Given the description of an element on the screen output the (x, y) to click on. 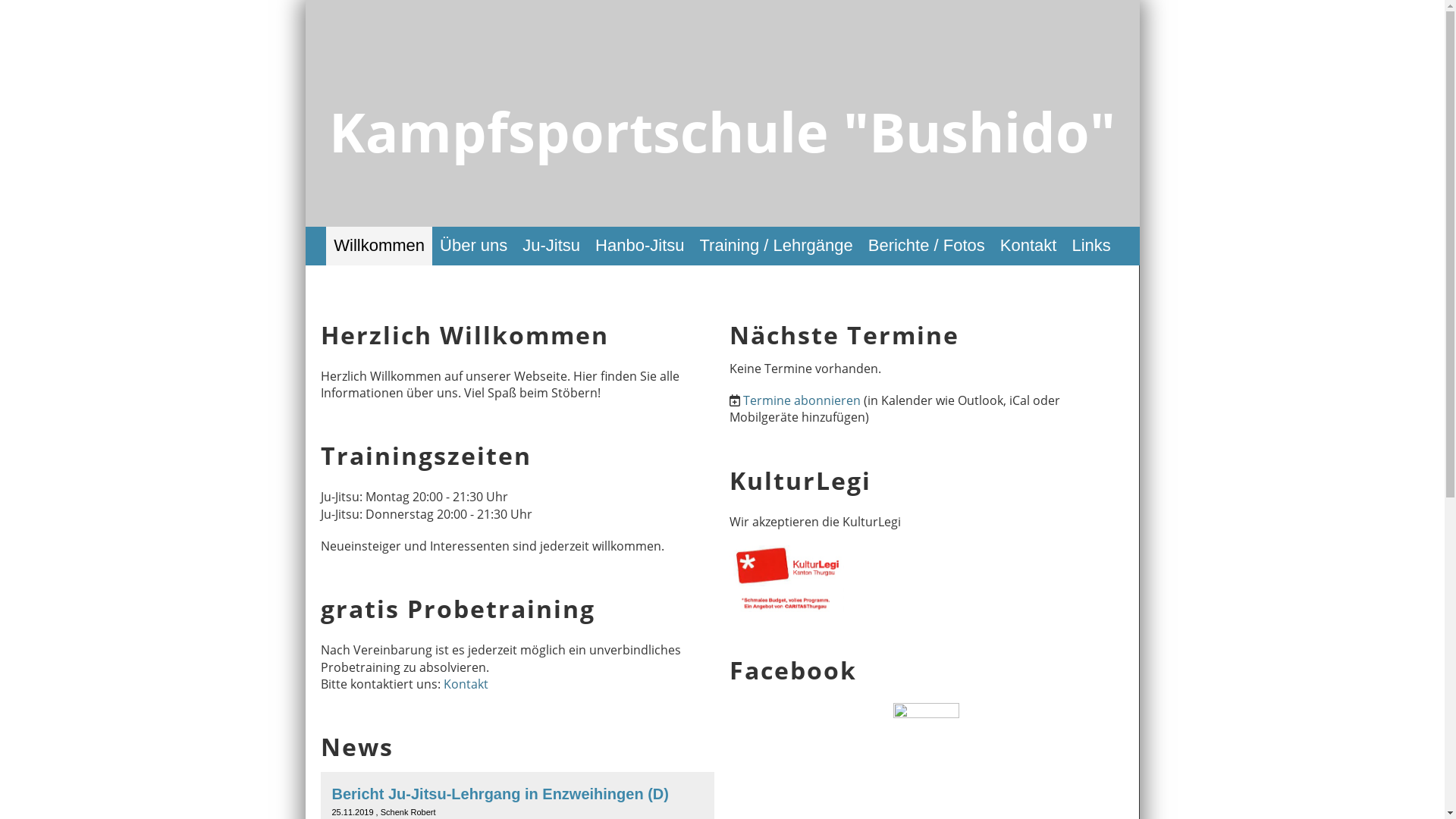
Ju-Jitsu Element type: text (550, 245)
Kontakt Element type: text (1028, 245)
Termine abonnieren Element type: text (801, 400)
Links Element type: text (1090, 245)
Willkommen Element type: text (379, 245)
Kontakt Element type: text (464, 683)
Hanbo-Jitsu Element type: text (639, 245)
Berichte / Fotos Element type: text (926, 245)
